Given the description of an element on the screen output the (x, y) to click on. 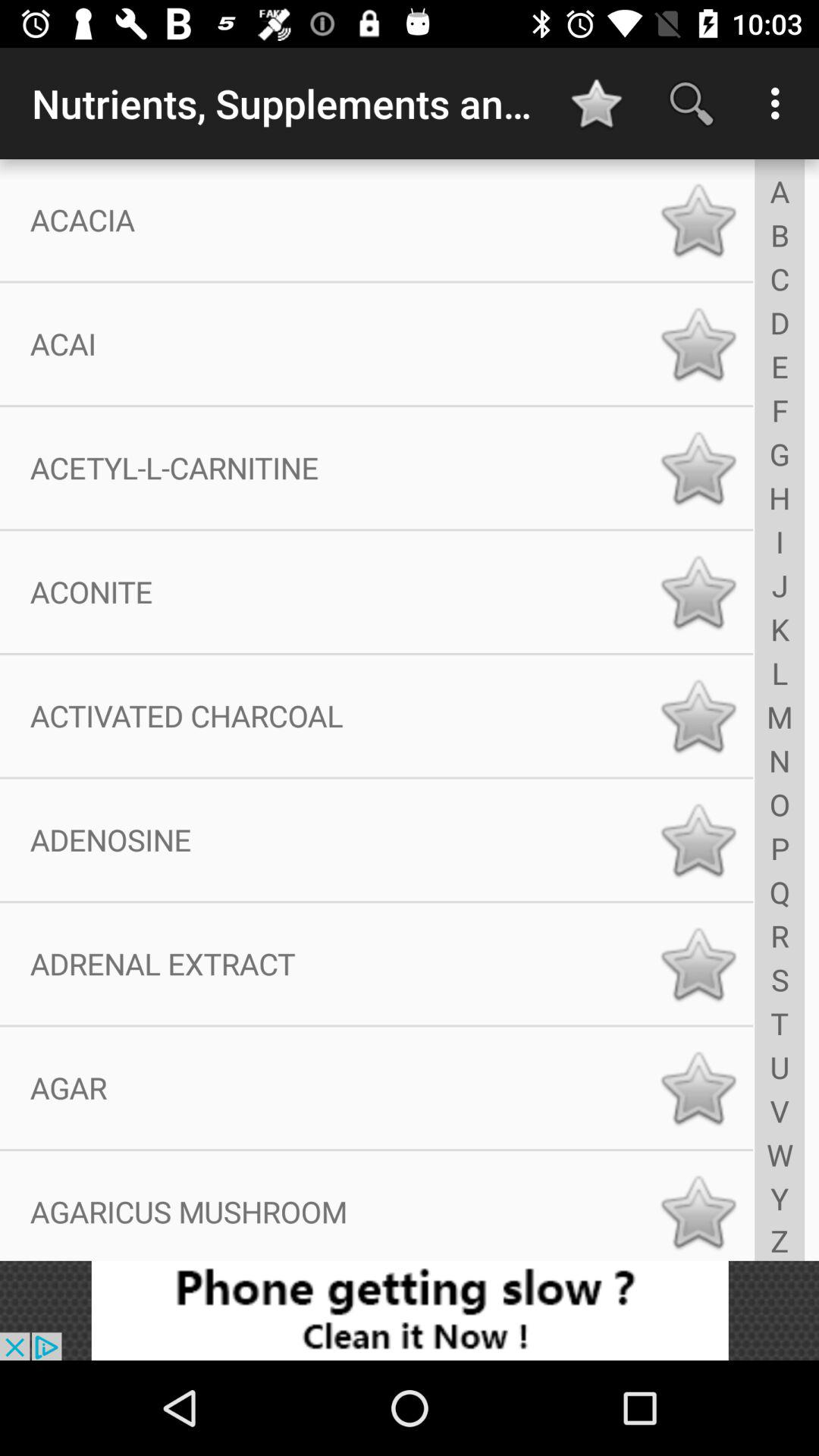
favorite (697, 715)
